Given the description of an element on the screen output the (x, y) to click on. 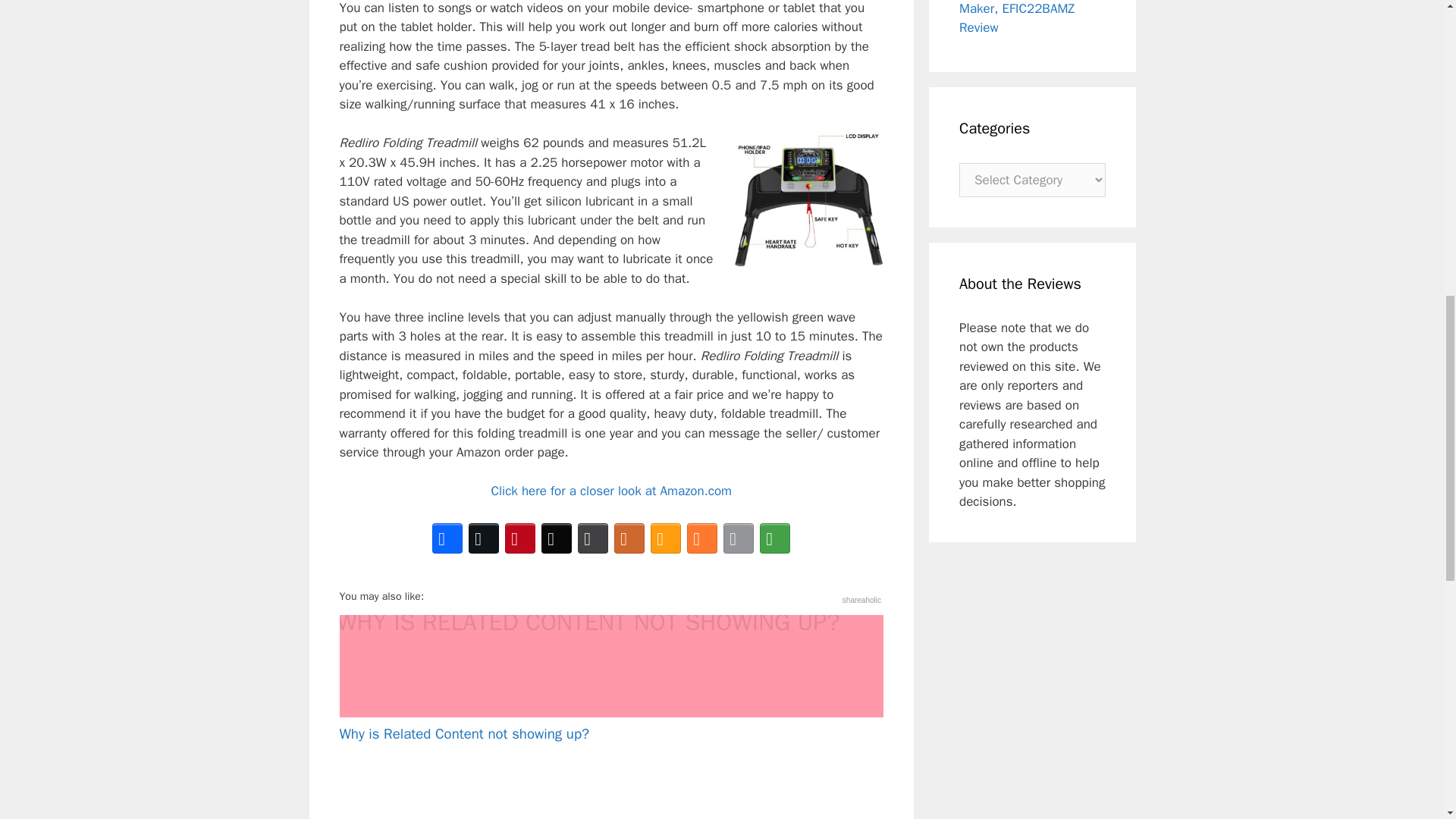
Website Tools by Shareaholic (861, 600)
Digg (556, 538)
Pinterest (520, 538)
Instapaper (593, 538)
Email This (738, 538)
More Options (775, 538)
Facebook (447, 538)
Blogger Post (702, 538)
Stumpedia (665, 538)
Why is Related Content not showing up? (611, 679)
Plurk (629, 538)
